Given the description of an element on the screen output the (x, y) to click on. 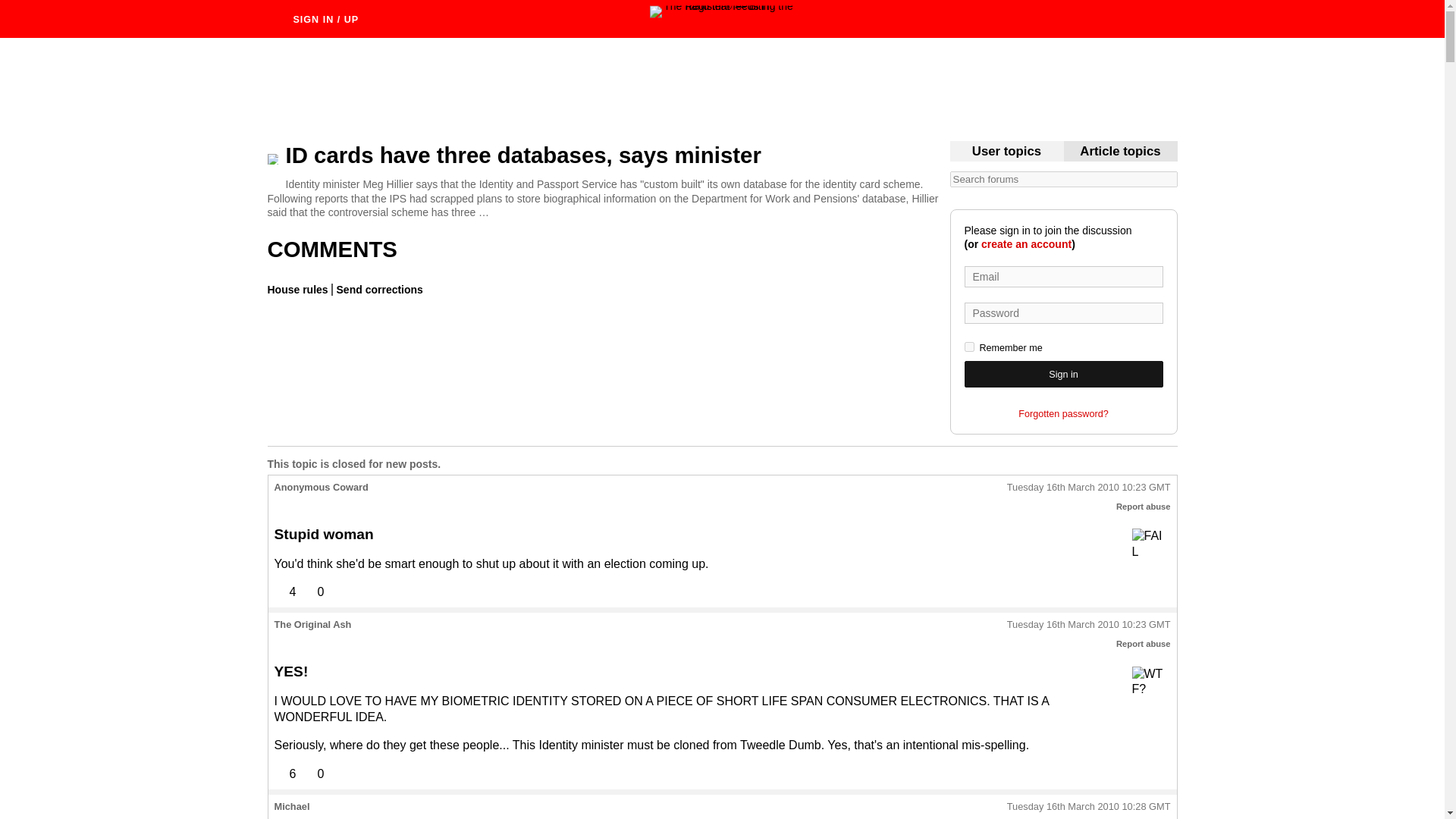
Report abuse (1143, 643)
Spotted an error? Let us know. (377, 289)
Like this post? Vote for it! (286, 591)
Forgotten password? (1063, 413)
Dislike this post? Vote it down! (312, 774)
Report abuse (1143, 506)
Commentards, Commentards, Commentards (1006, 151)
For corrections, please use link below article copy, kthxbye (1120, 151)
Epic FAIL, and no messing (1149, 546)
Permalink to this post (1088, 807)
